Given the description of an element on the screen output the (x, y) to click on. 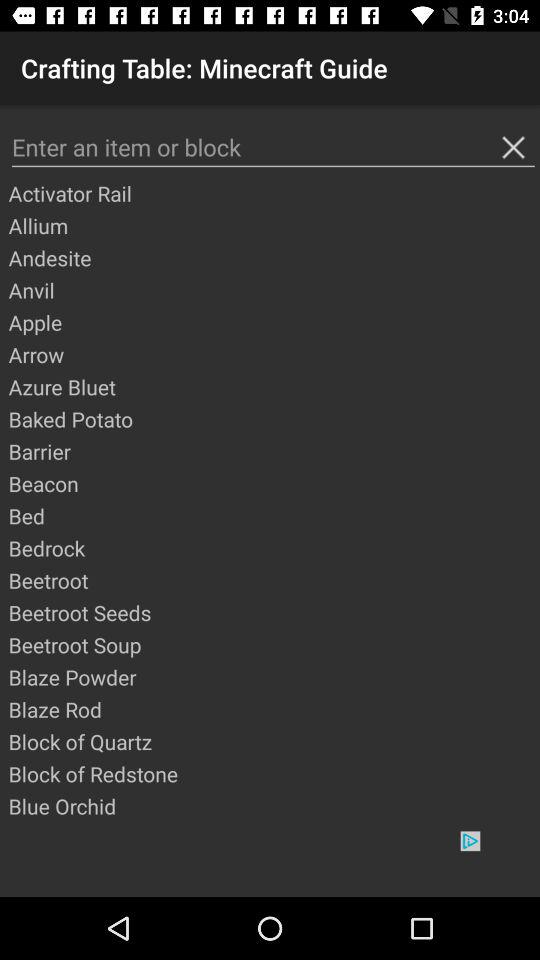
press the item above beacon app (273, 451)
